Given the description of an element on the screen output the (x, y) to click on. 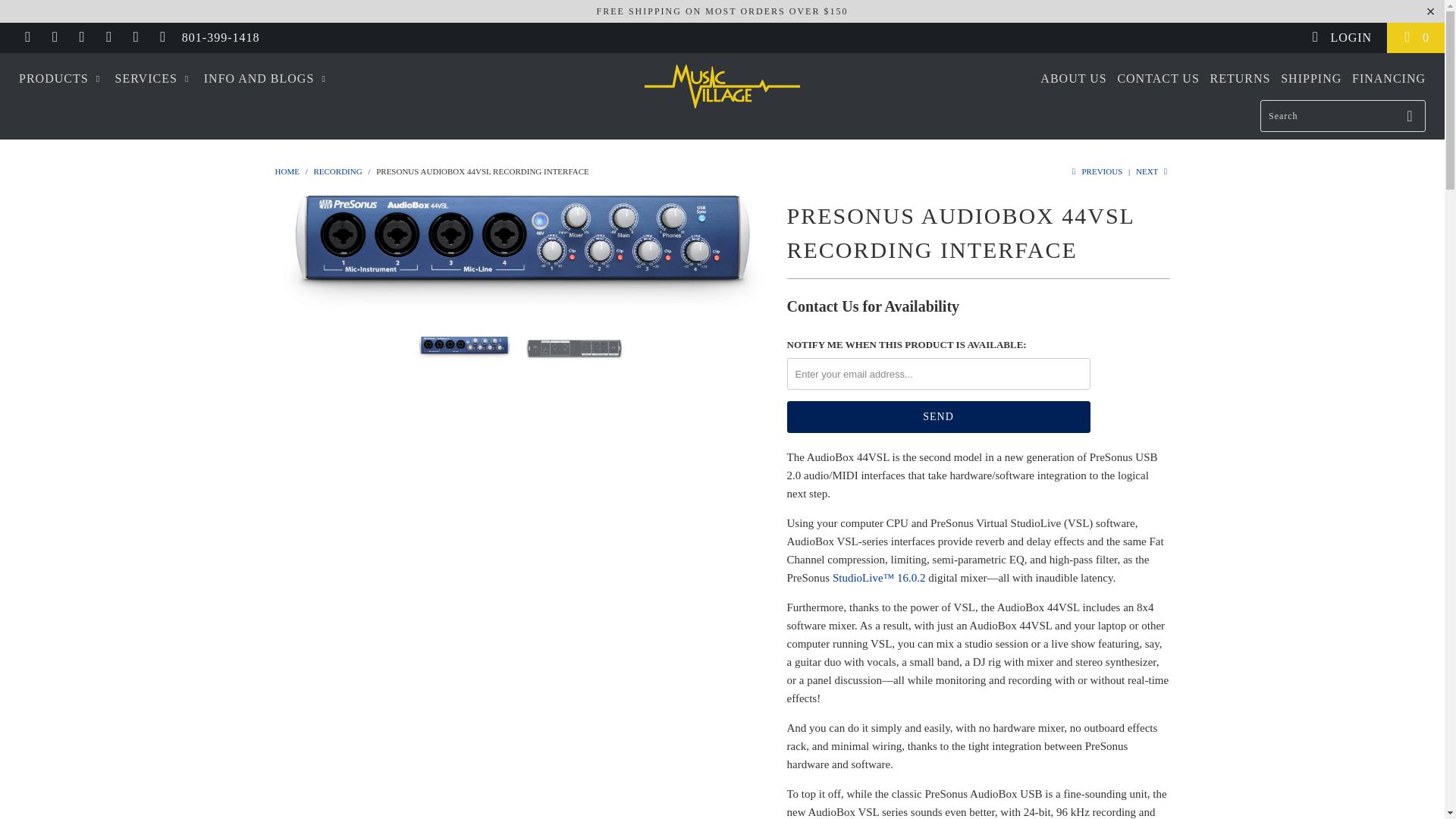
Music Village USA on Instagram (134, 37)
My Account  (1340, 37)
Next (1152, 171)
Music Village USA (286, 171)
Music Village USA on Facebook (54, 37)
Recording (337, 171)
Music Village USA on YouTube (80, 37)
Previous (1095, 171)
Music Village USA (722, 86)
Music Village USA on Pinterest (108, 37)
Send (938, 417)
Email Music Village USA (162, 37)
Music Village USA on Twitter (26, 37)
